Given the description of an element on the screen output the (x, y) to click on. 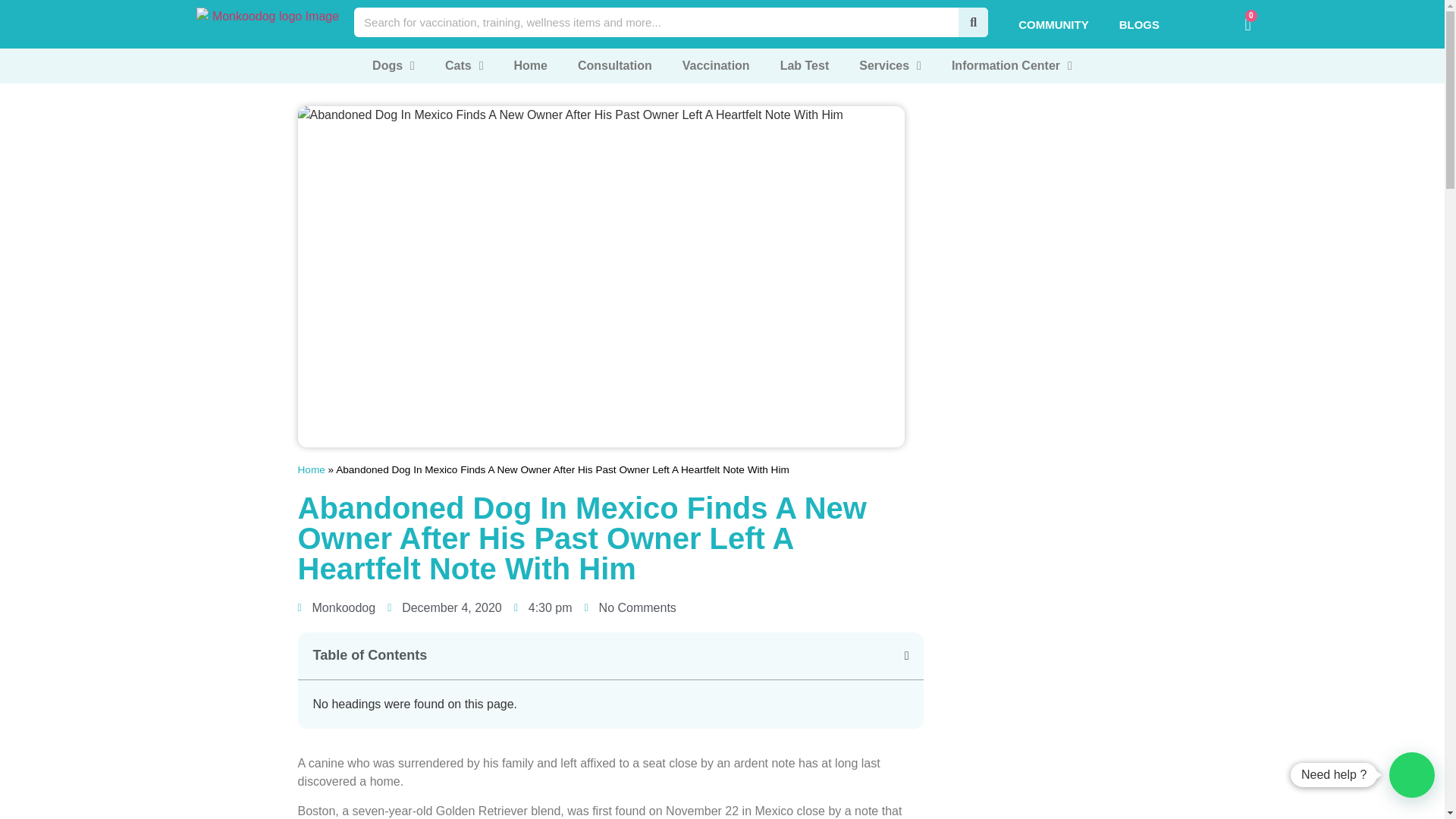
Best Veterinary Service in India (267, 22)
BLOGS (1138, 24)
COMMUNITY (1053, 24)
